Given the description of an element on the screen output the (x, y) to click on. 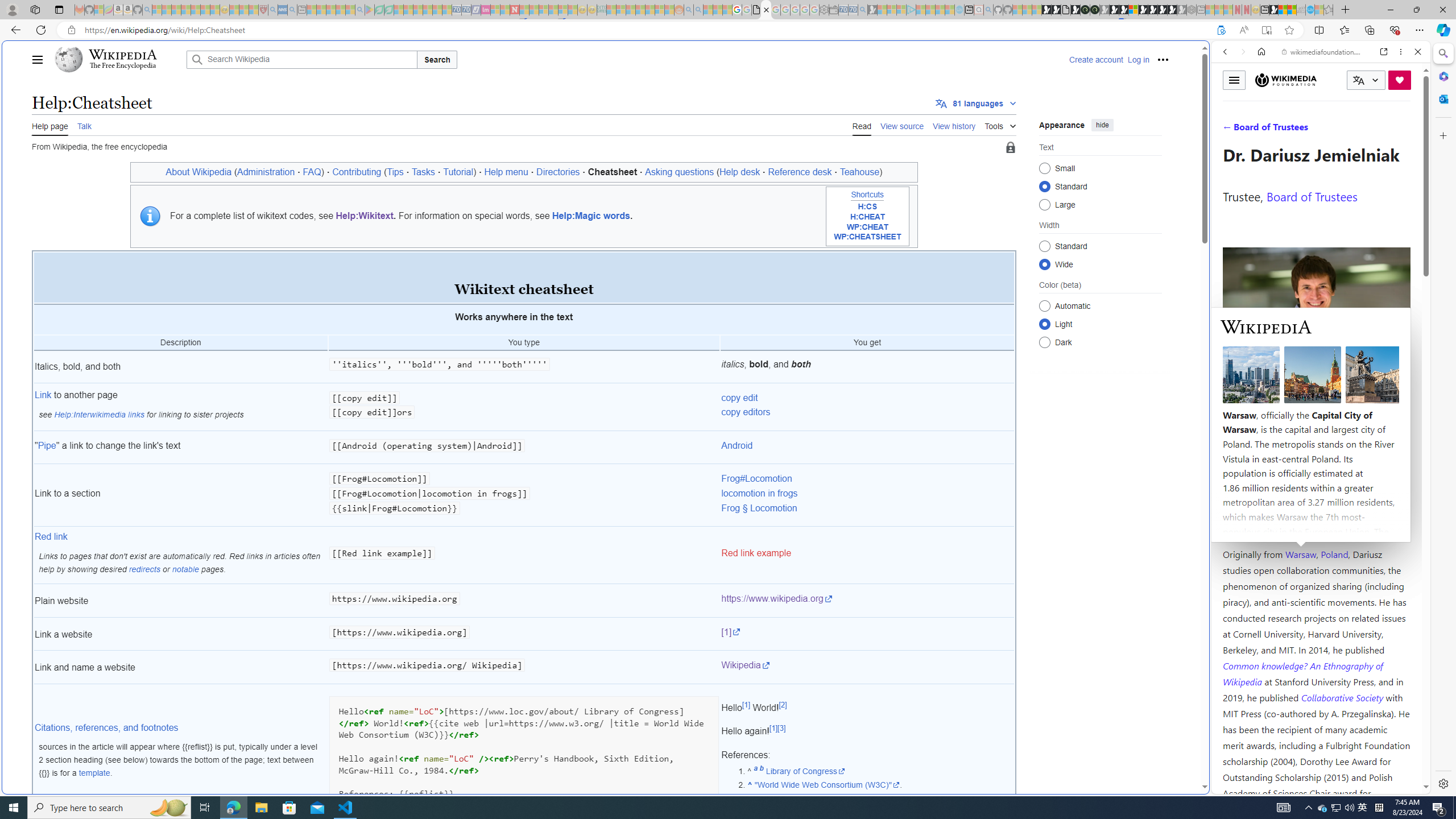
Search or enter web address (922, 108)
WEB   (1230, 130)
Create account (1095, 58)
https://www.wikipedia.org (776, 598)
